Given the description of an element on the screen output the (x, y) to click on. 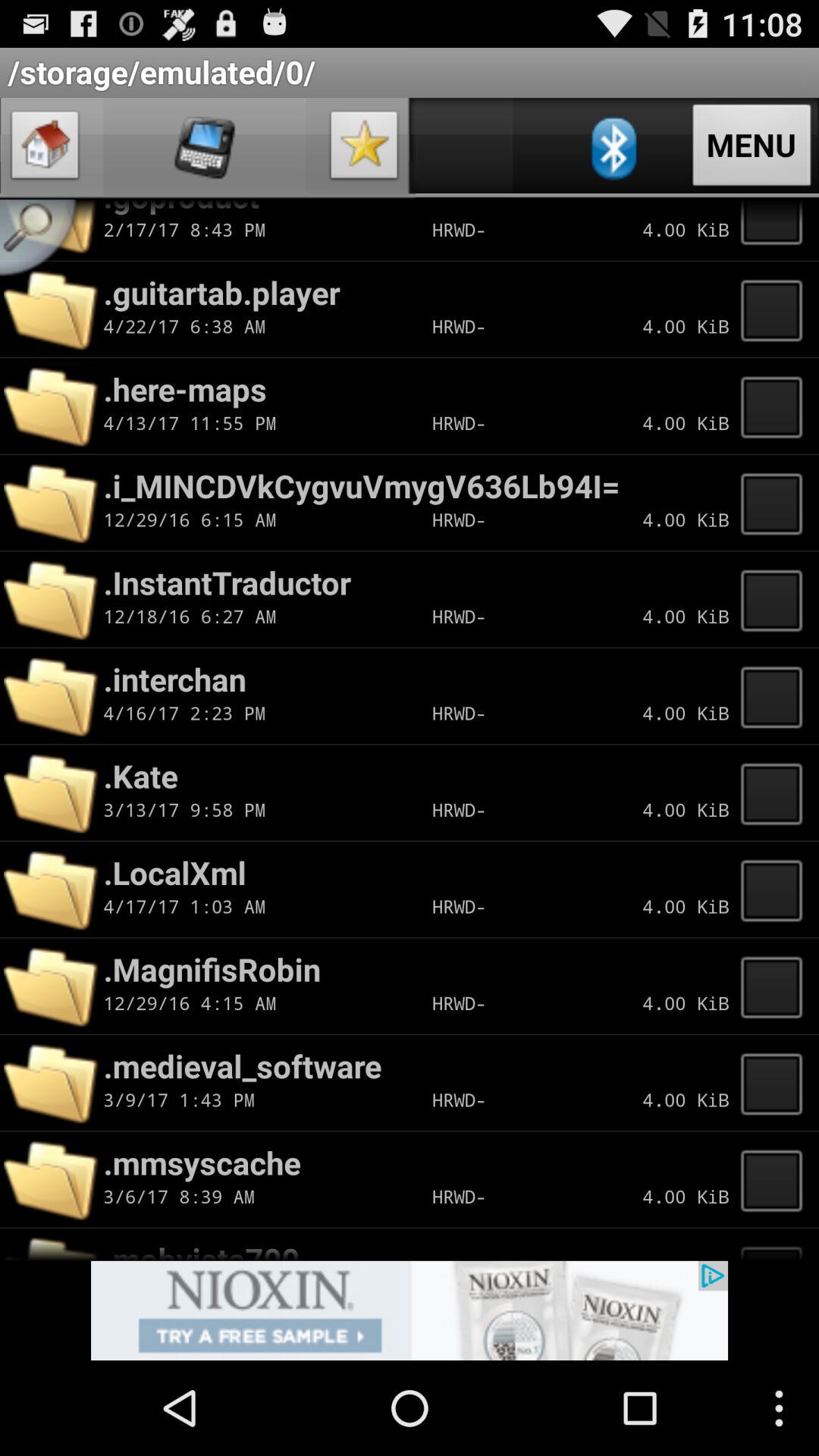
empty box option (776, 792)
